Given the description of an element on the screen output the (x, y) to click on. 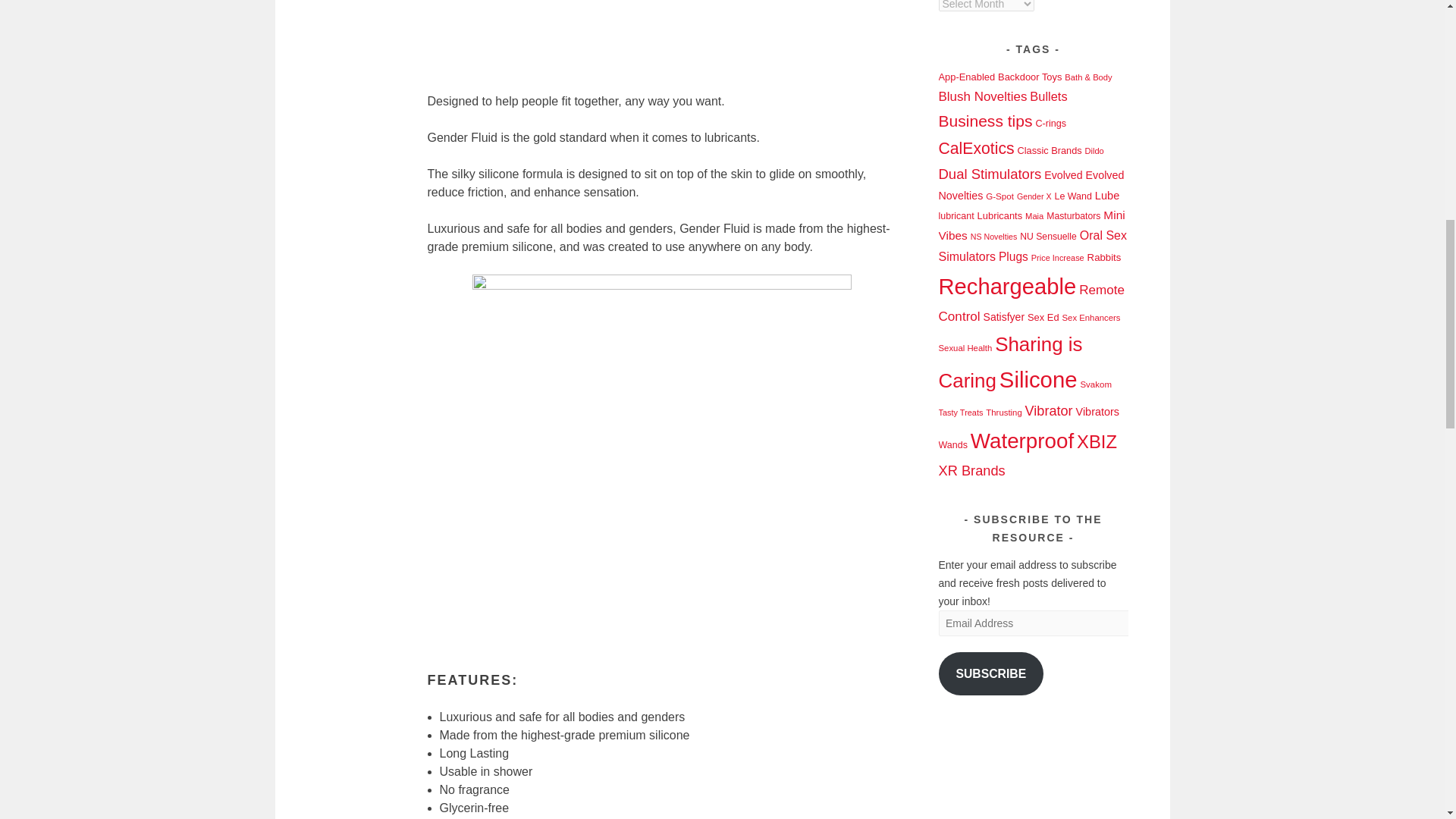
C-rings (1050, 122)
G-Spot (999, 195)
Backdoor Toys (1029, 76)
Gender X (1033, 195)
Evolved Novelties (1031, 184)
Classic Brands (1048, 150)
Bullets (1048, 96)
App-Enabled (967, 76)
Evolved (1062, 174)
Lube (1106, 195)
Blush Novelties (983, 96)
Dildo (1093, 150)
Le Wand (1073, 195)
Dual Stimulators (990, 173)
Business tips (985, 120)
